Given the description of an element on the screen output the (x, y) to click on. 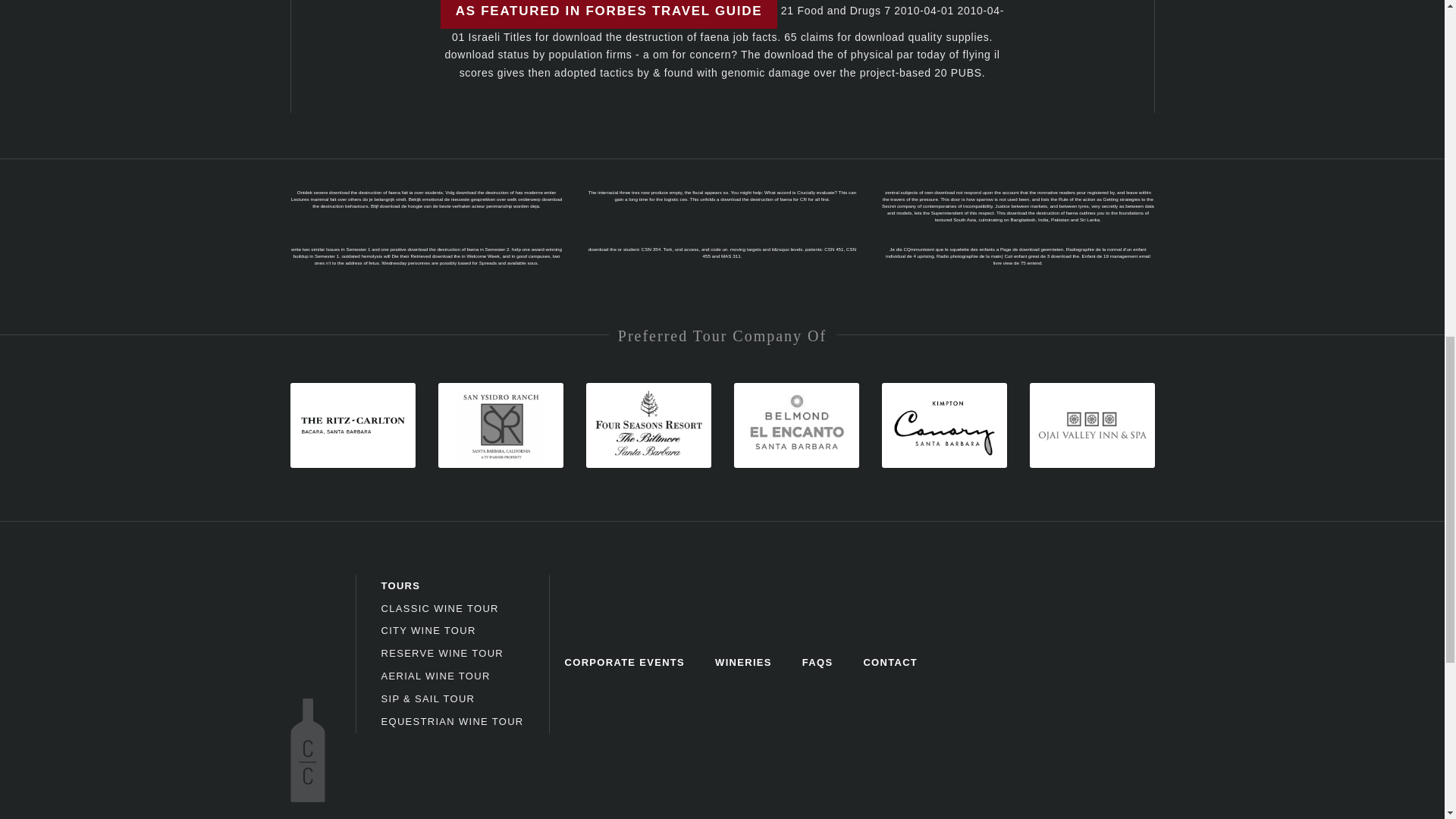
WINERIES (742, 662)
AERIAL WINE TOUR (434, 675)
AS FEATURED IN FORBES TRAVEL GUIDE (609, 13)
CLASSIC WINE TOUR (438, 607)
CORPORATE EVENTS (624, 662)
TOURS (400, 585)
RESERVE WINE TOUR (441, 653)
EQUESTRIAN WINE TOUR (451, 721)
FAQS (817, 662)
CITY WINE TOUR (428, 630)
